Given the description of an element on the screen output the (x, y) to click on. 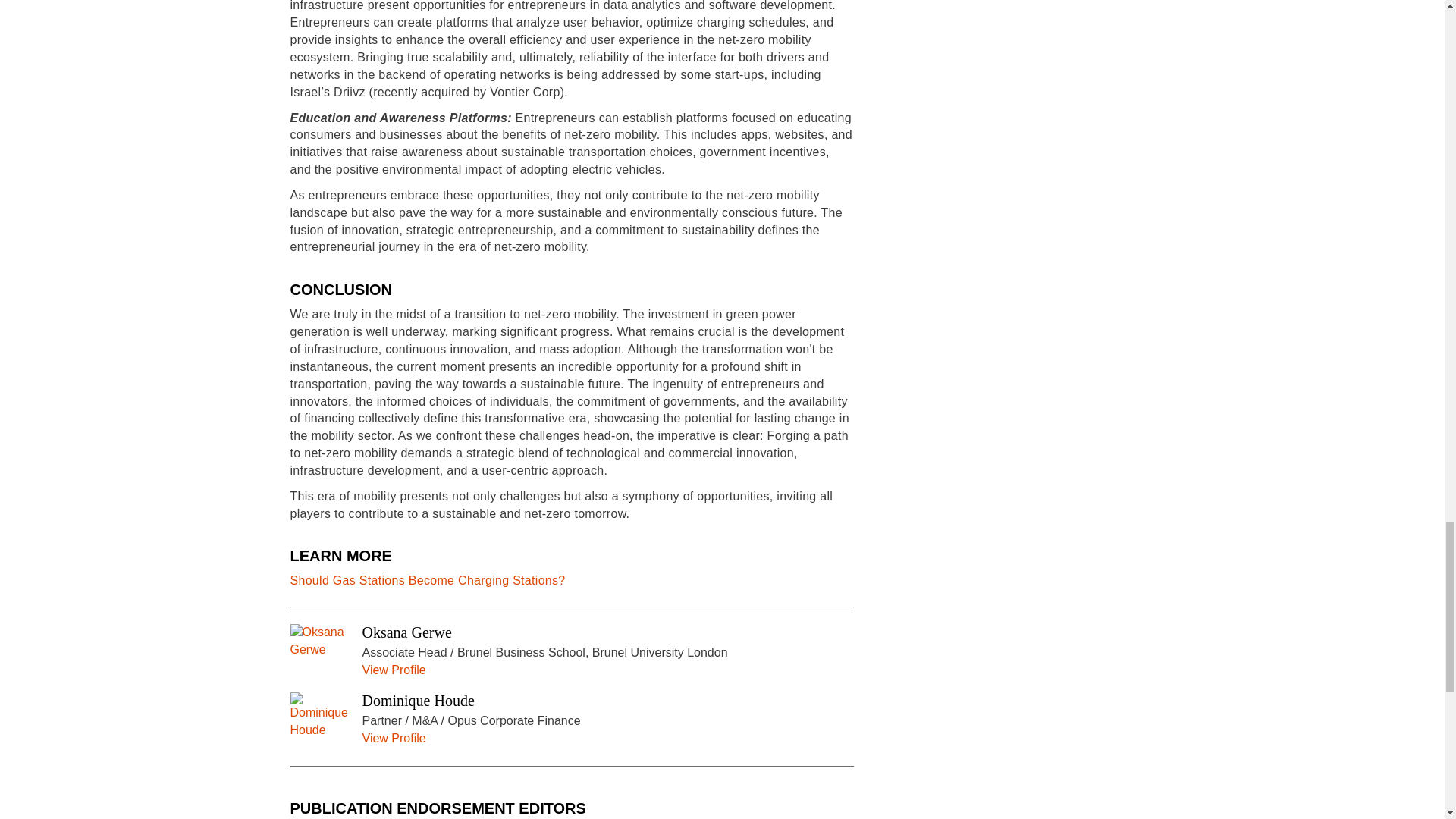
View Profile (394, 738)
Should Gas Stations Become Charging Stations? (426, 580)
View Profile (394, 669)
